Given the description of an element on the screen output the (x, y) to click on. 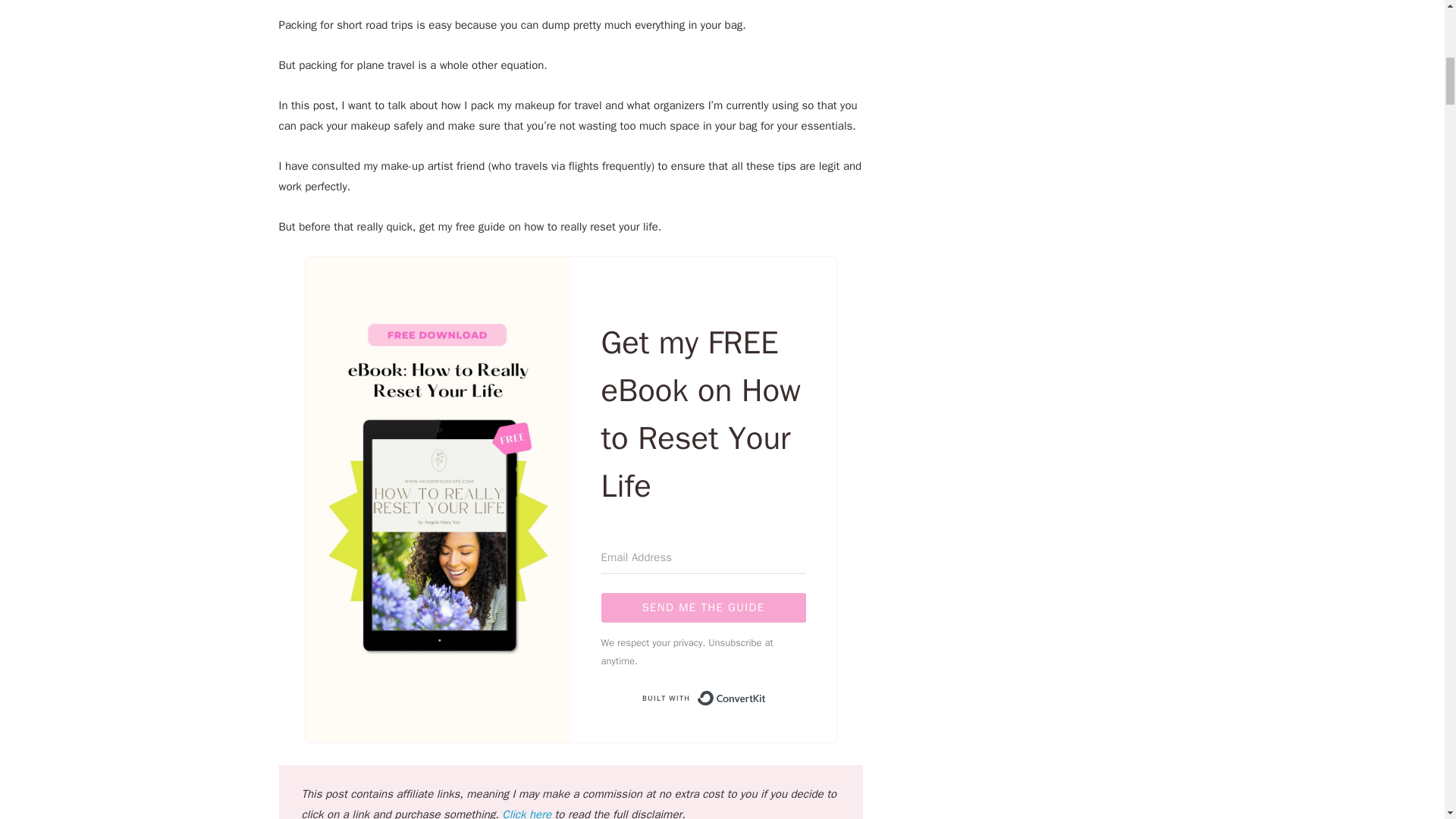
SEND ME THE GUIDE (702, 607)
Built with ConvertKit (702, 697)
Click here (526, 813)
